Given the description of an element on the screen output the (x, y) to click on. 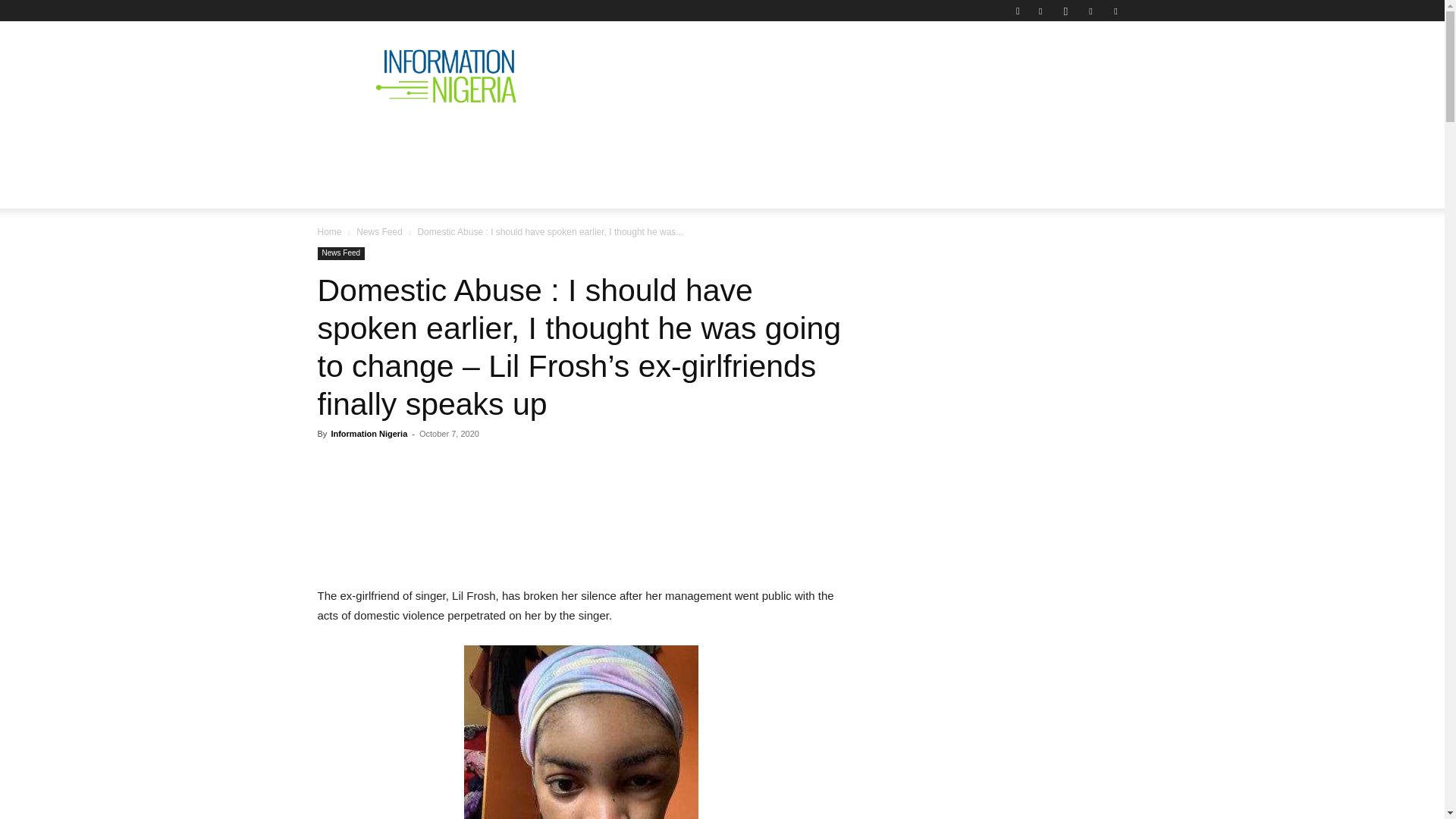
Facebook (1040, 10)
BBC PIDGIN (779, 139)
METRO NEWS (884, 139)
Youtube (1114, 10)
View all posts in News Feed (379, 231)
Search (1085, 64)
SPORTS (974, 139)
Twitter (1090, 10)
NATIONAL NEWS (444, 139)
SPECIAL REPORTS (660, 139)
Nigeria News, Nigerian Newspaper (446, 76)
POLITICS (551, 139)
Instagram (1065, 10)
HOME (347, 139)
